Given the description of an element on the screen output the (x, y) to click on. 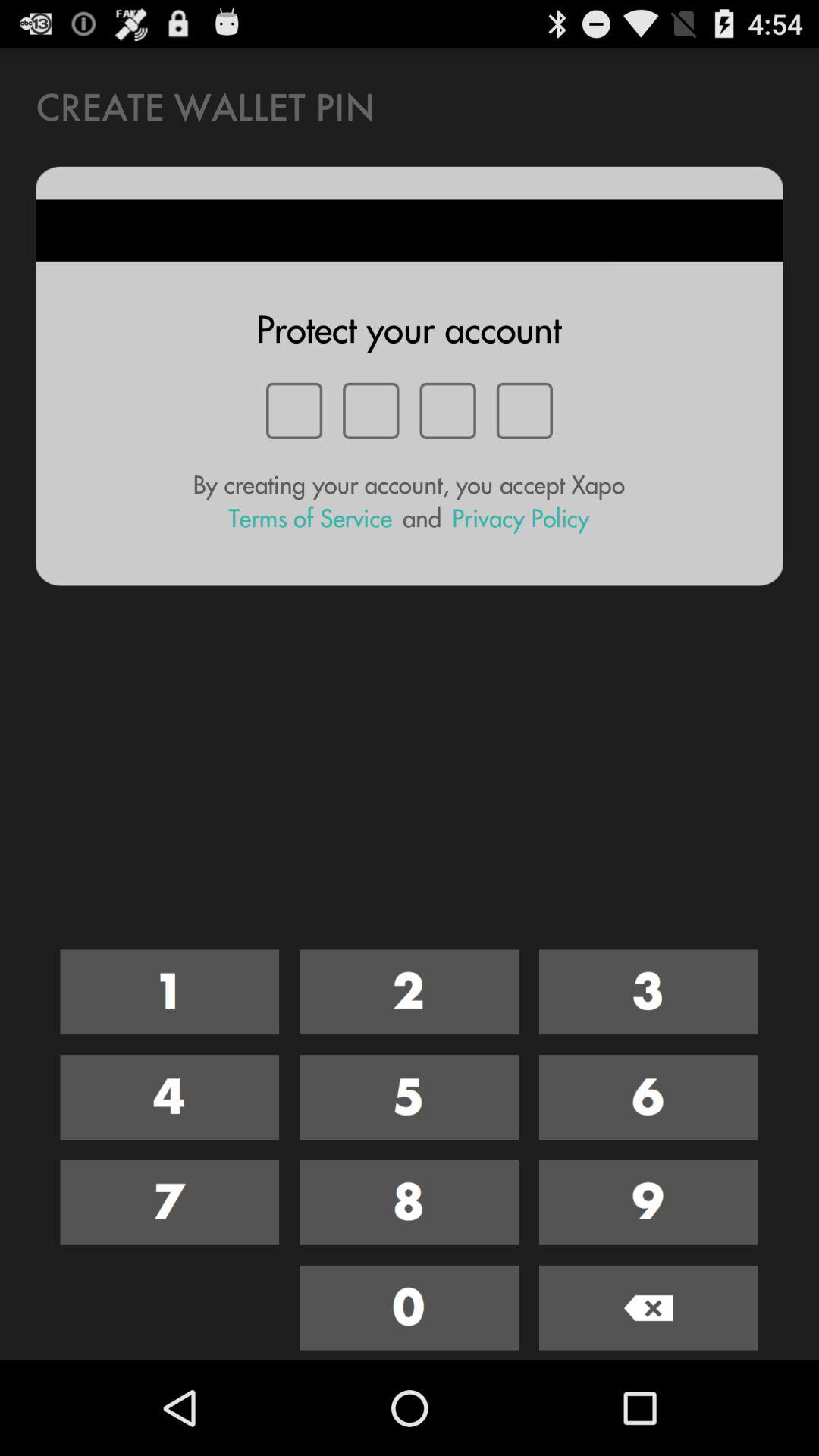
open the icon next to and item (520, 518)
